Given the description of an element on the screen output the (x, y) to click on. 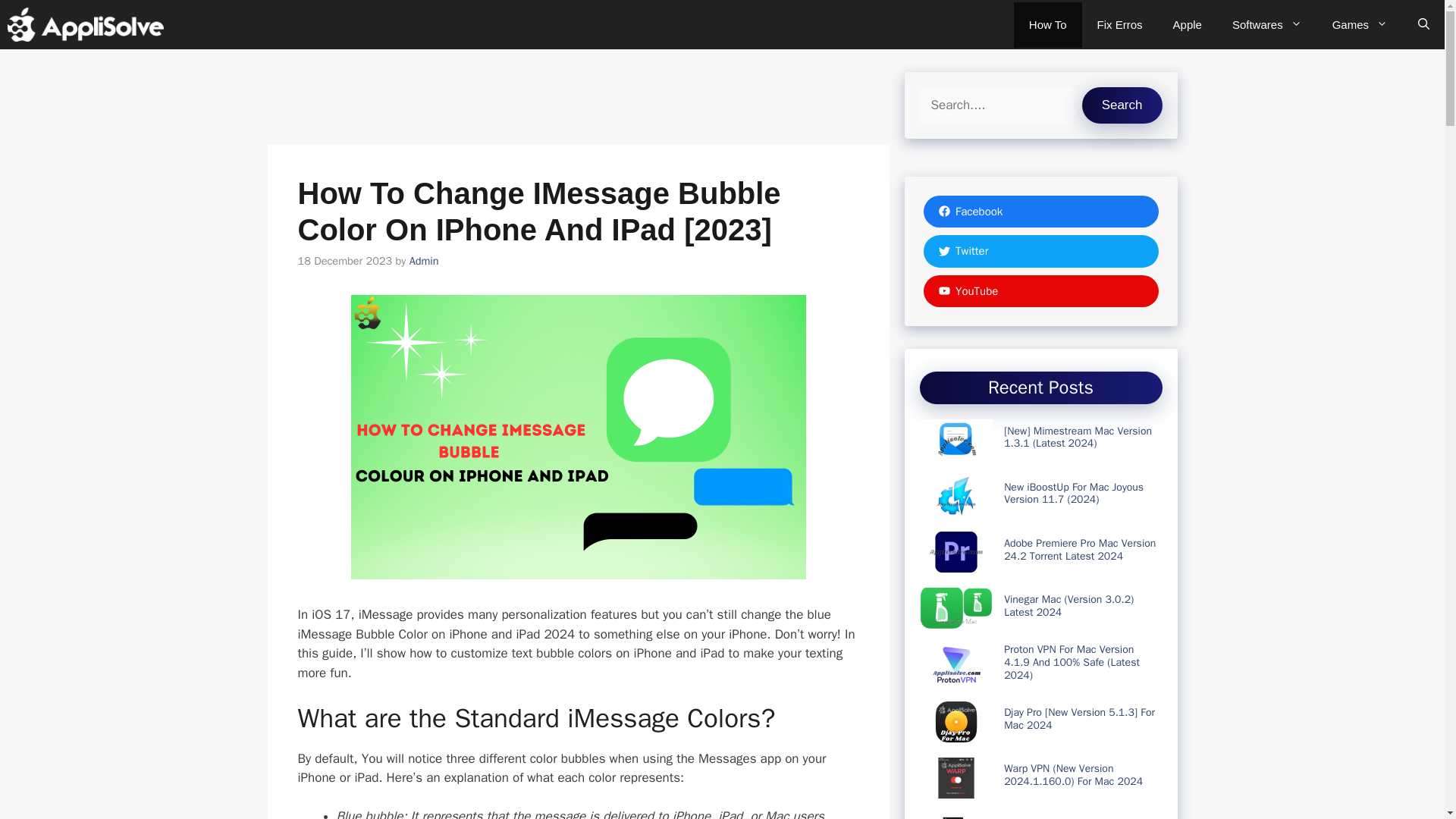
AppliSolve (85, 24)
How To (1047, 23)
Twitter (1040, 251)
Softwares (1267, 23)
Fix Erros (1119, 23)
Adobe Premiere Pro Mac Version 24.2 Torrent Latest 2024 (1080, 549)
View all posts by Admin (424, 260)
YouTube (1040, 290)
Games (1360, 23)
Facebook (1040, 211)
